Given the description of an element on the screen output the (x, y) to click on. 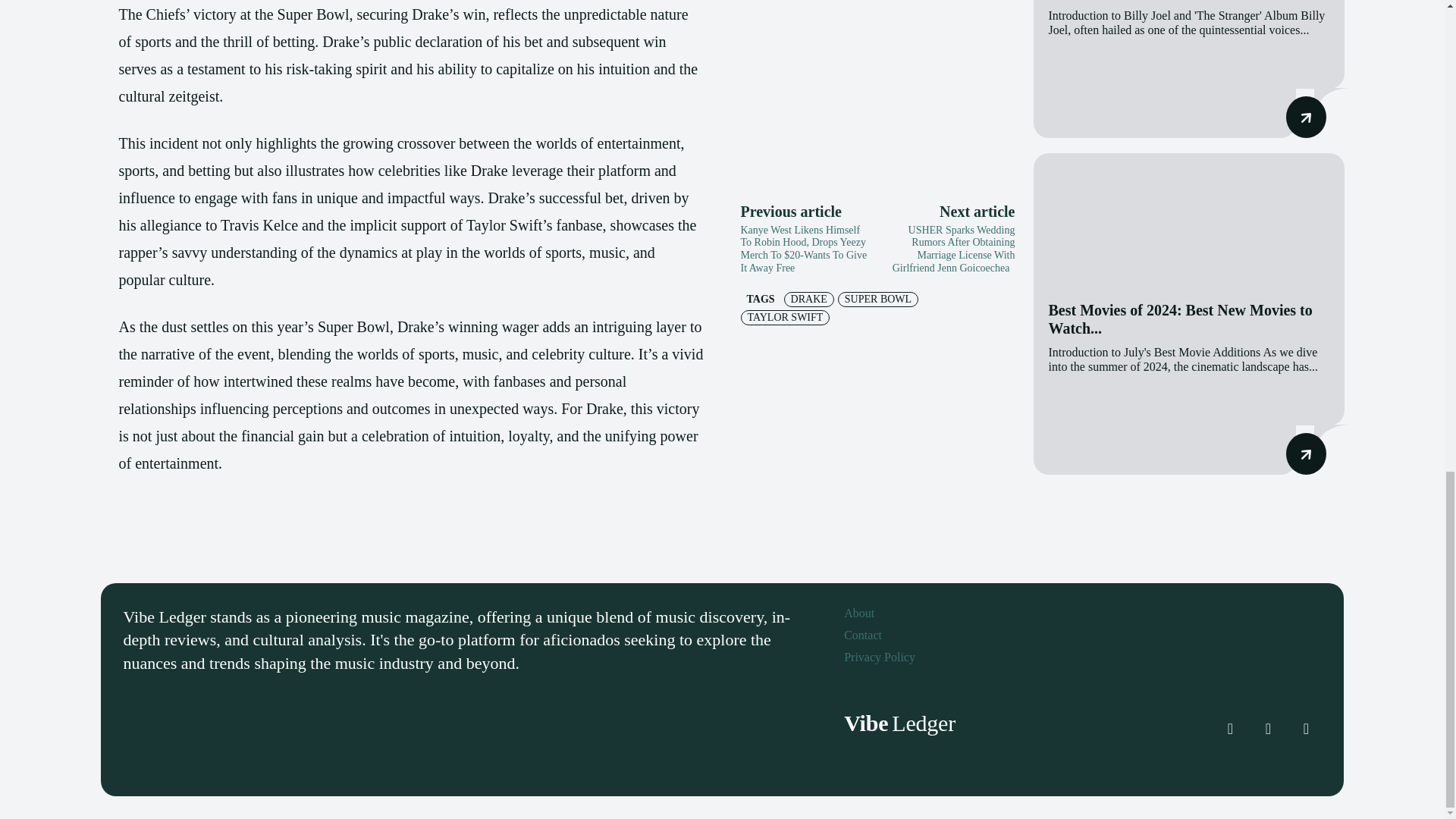
SUPER BOWL (878, 299)
DRAKE (809, 299)
